Given the description of an element on the screen output the (x, y) to click on. 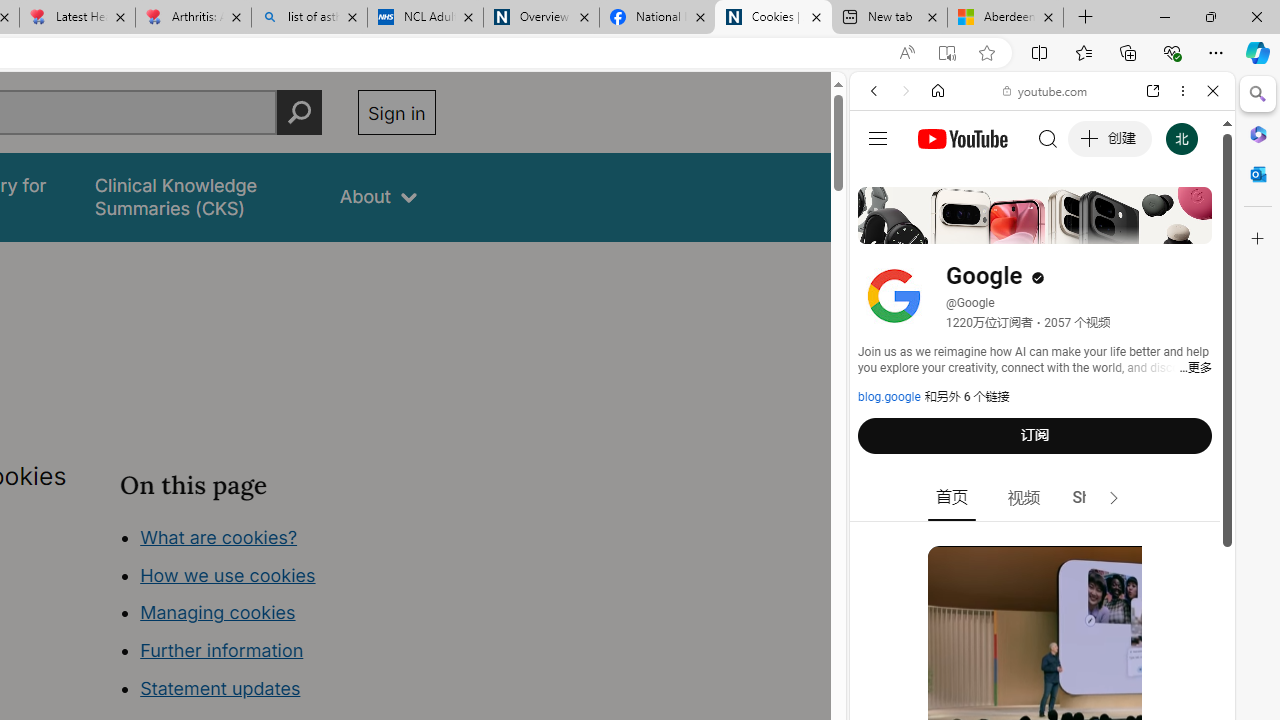
What are cookies? (218, 536)
NCL Adult Asthma Inhaler Choice Guideline (424, 17)
blog.google (889, 397)
false (198, 196)
Show More Music (1164, 546)
